Given the description of an element on the screen output the (x, y) to click on. 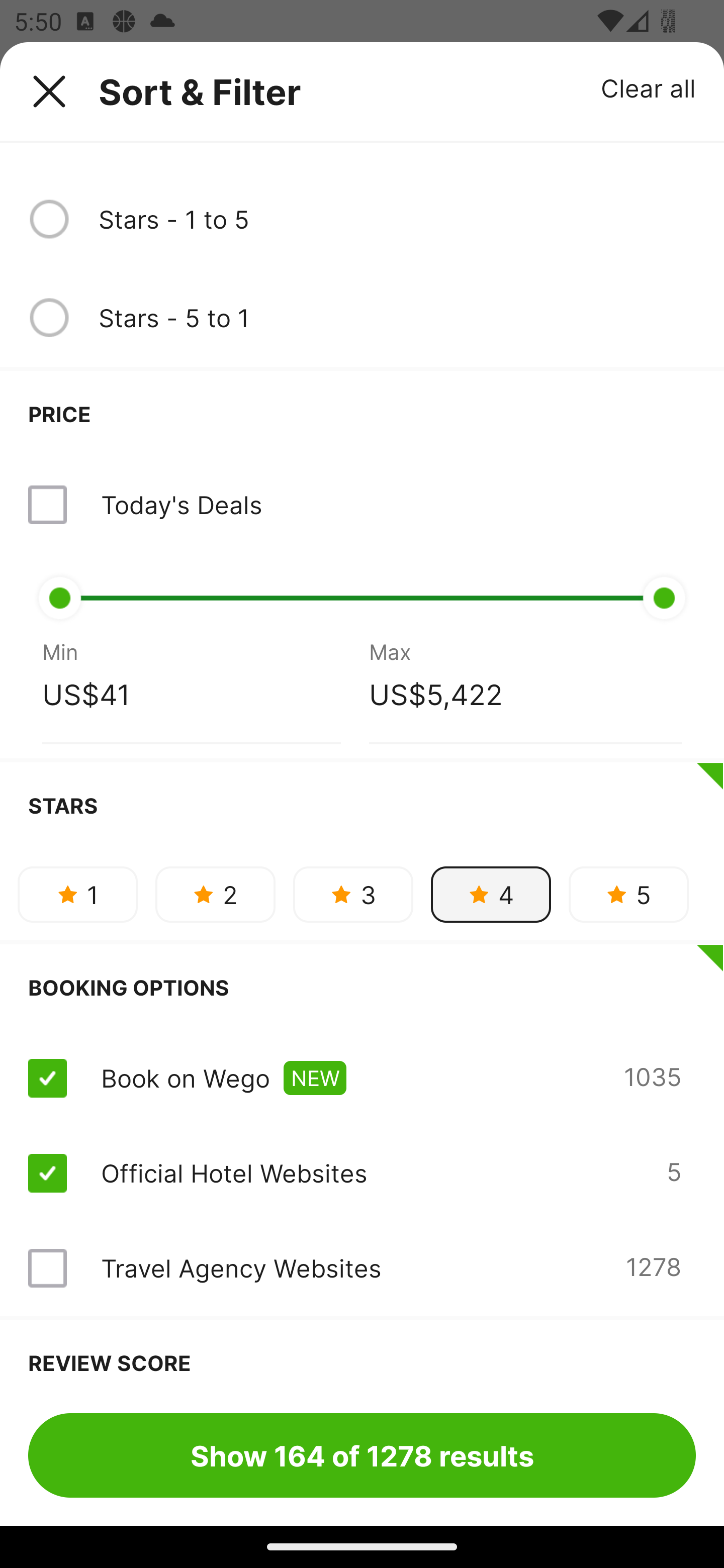
Clear all (648, 87)
Stars - 1 to 5 (396, 219)
Stars - 5 to 1 (396, 317)
Today's Deals (362, 504)
Today's Deals (181, 504)
1 (77, 894)
2 (214, 894)
3 (352, 894)
4 (491, 894)
5 (627, 894)
Book on Wego NEW 1035 (362, 1077)
Book on Wego (184, 1077)
Official Hotel Websites 5 (362, 1173)
Official Hotel Websites (233, 1172)
Travel Agency Websites 1278 (362, 1268)
Travel Agency Websites (240, 1267)
Show 164 of 1278 results (361, 1454)
